Given the description of an element on the screen output the (x, y) to click on. 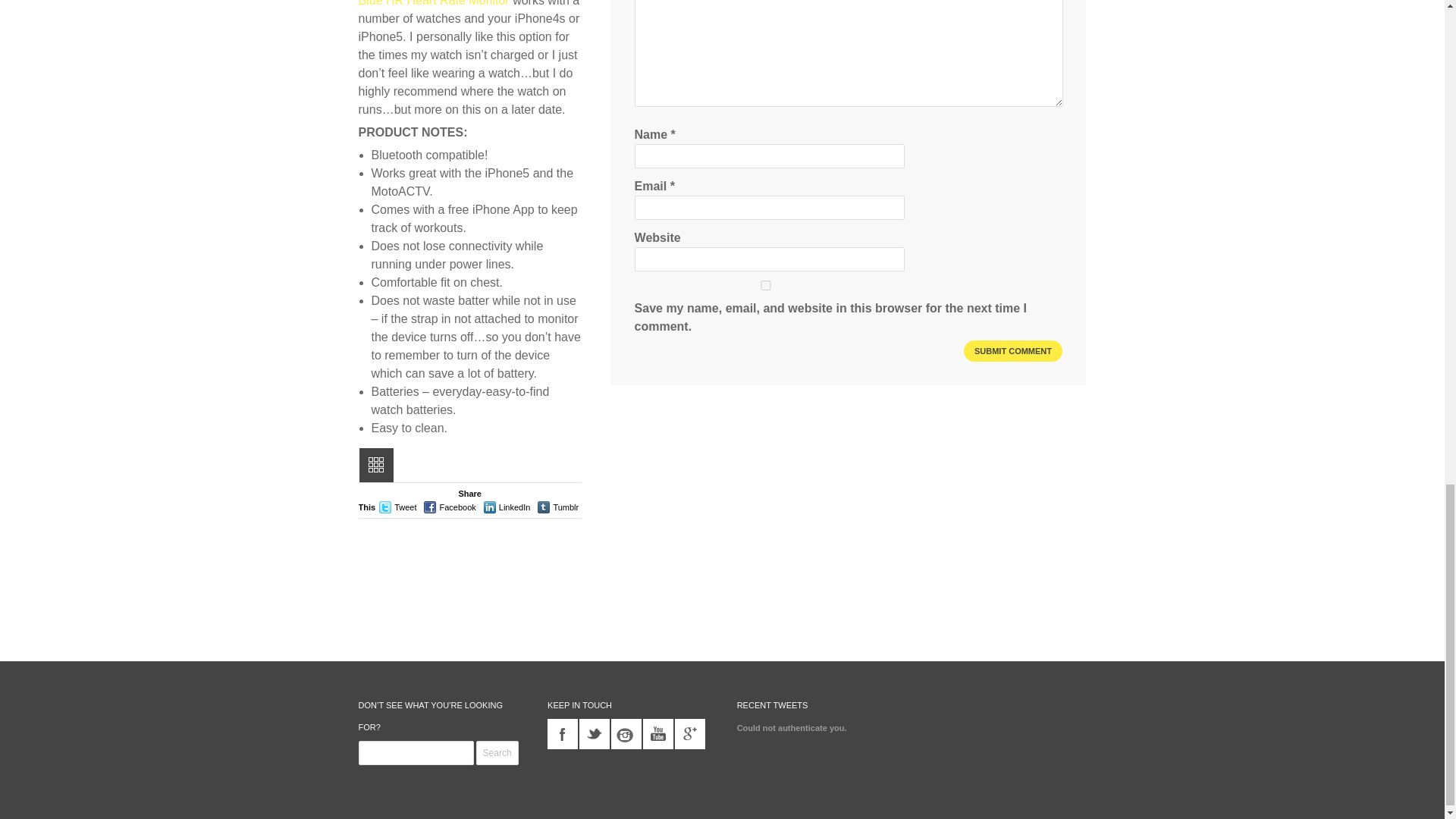
Search (497, 752)
Tumblr (565, 506)
All (376, 464)
Wahoo Blue HR Heart Rate Monitor (468, 3)
LinkedIn (515, 506)
Tweet (405, 506)
Share on Facebook (457, 506)
All (376, 464)
Facebook (457, 506)
Share on LinkedIn (515, 506)
Share on Tumblr (565, 506)
Submit Comment (1012, 350)
yes (766, 285)
